Given the description of an element on the screen output the (x, y) to click on. 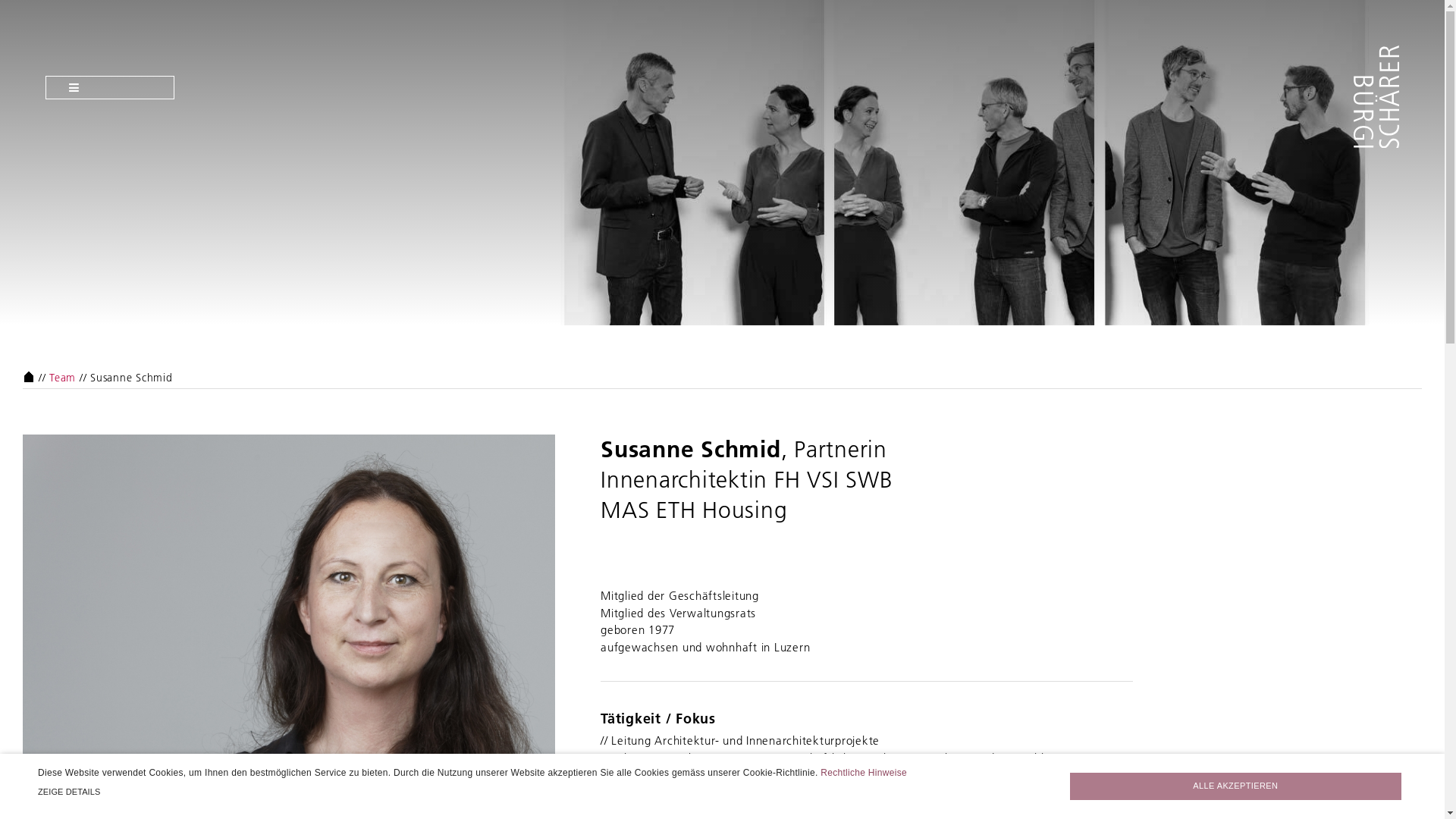
Team Element type: text (62, 376)
Rechtliche Hinweise Element type: text (863, 772)
